Given the description of an element on the screen output the (x, y) to click on. 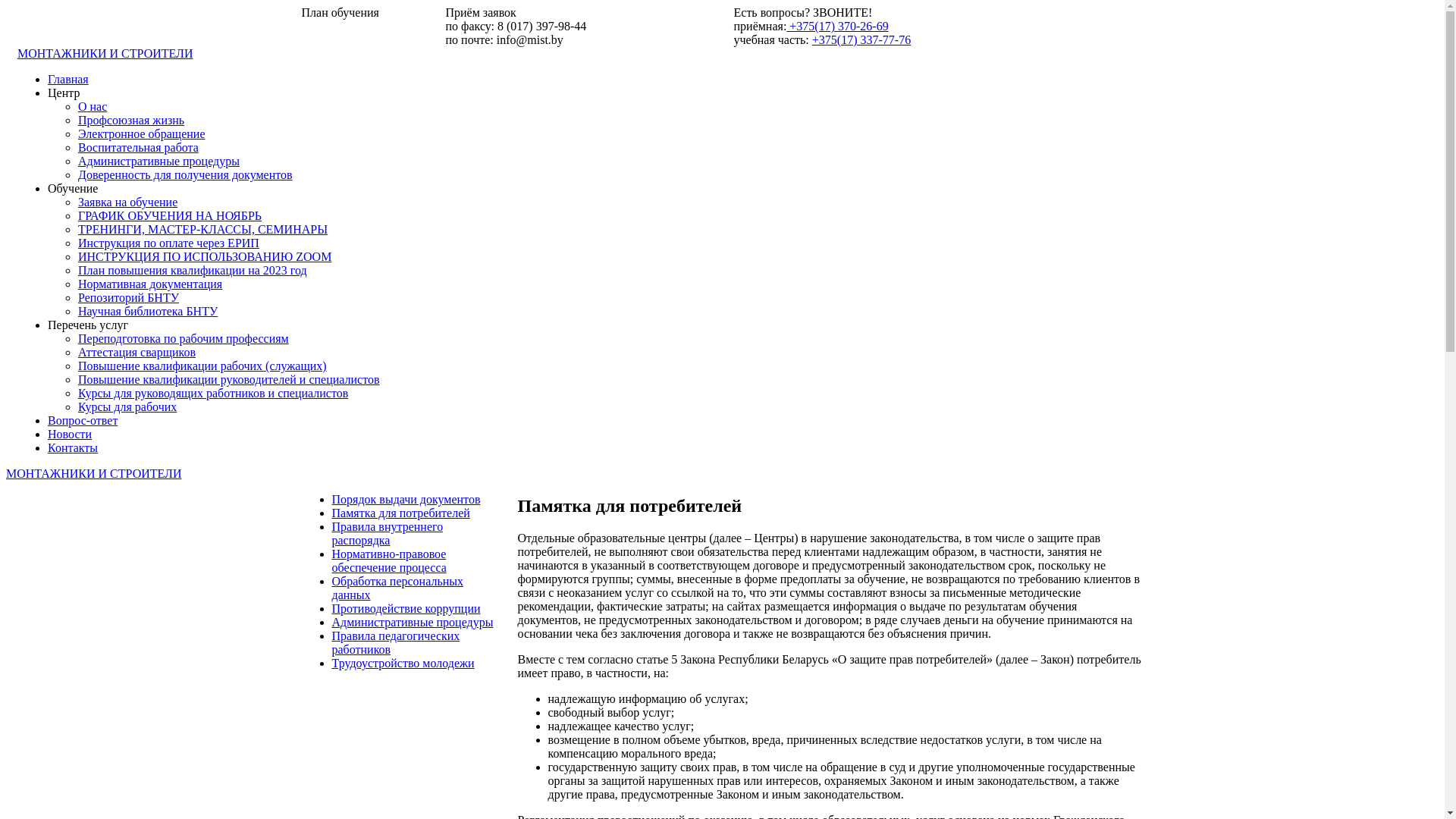
+375(17) 370-26-69 Element type: text (837, 25)
+375(17) 337-77-76 Element type: text (861, 39)
